Given the description of an element on the screen output the (x, y) to click on. 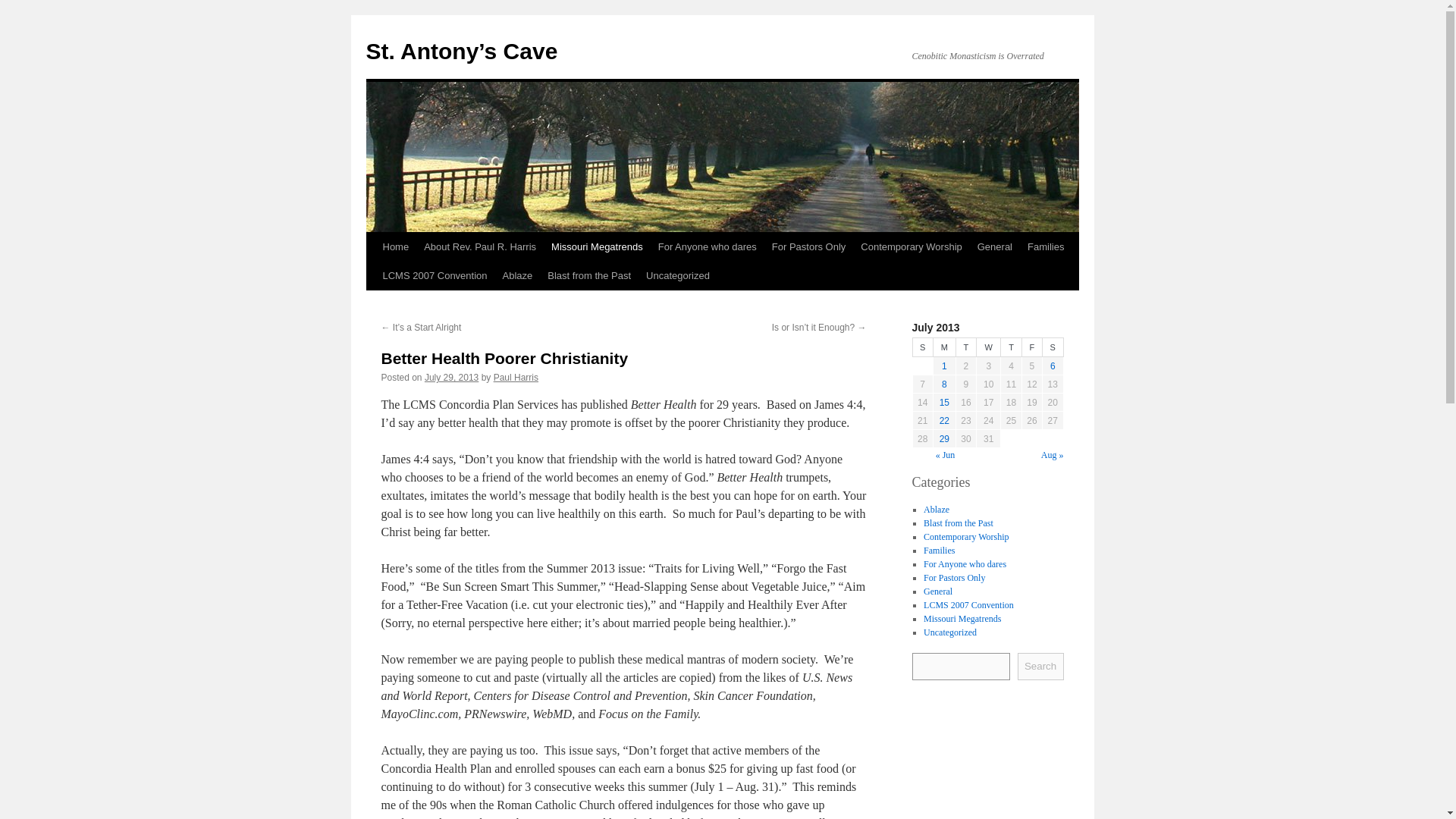
Monday (944, 347)
Blast from the Past (589, 275)
Paul Harris (515, 377)
LCMS 2007 Convention (434, 275)
Uncategorized (678, 275)
LCMS 2007 Convention (968, 603)
General (937, 590)
Families (1045, 246)
Home (395, 246)
Ablaze (936, 508)
Missouri Megatrends (596, 246)
Tuesday (965, 347)
Sunday (922, 347)
Wednesday (988, 347)
Blast from the Past (957, 521)
